Given the description of an element on the screen output the (x, y) to click on. 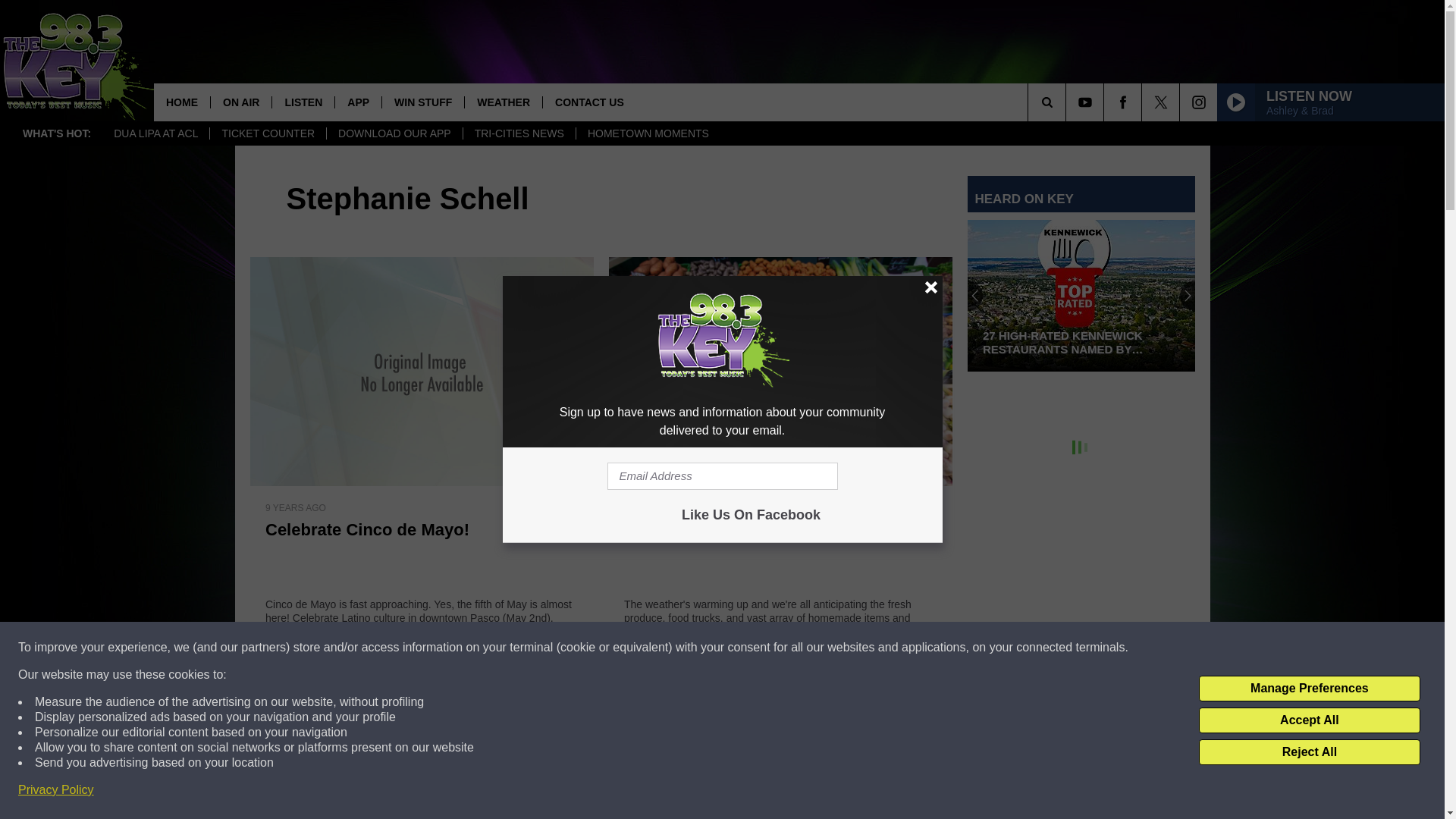
SEARCH (1068, 102)
DUA LIPA AT ACL (155, 133)
SEARCH (1068, 102)
WEATHER (502, 102)
DOWNLOAD OUR APP (394, 133)
ON AIR (239, 102)
HOME (181, 102)
Privacy Policy (55, 789)
HOMETOWN MOMENTS (647, 133)
TRI-CITIES NEWS (519, 133)
Accept All (1309, 720)
LISTEN (302, 102)
WHAT'S HOT: (56, 133)
WIN STUFF (422, 102)
Email Address (722, 475)
